Given the description of an element on the screen output the (x, y) to click on. 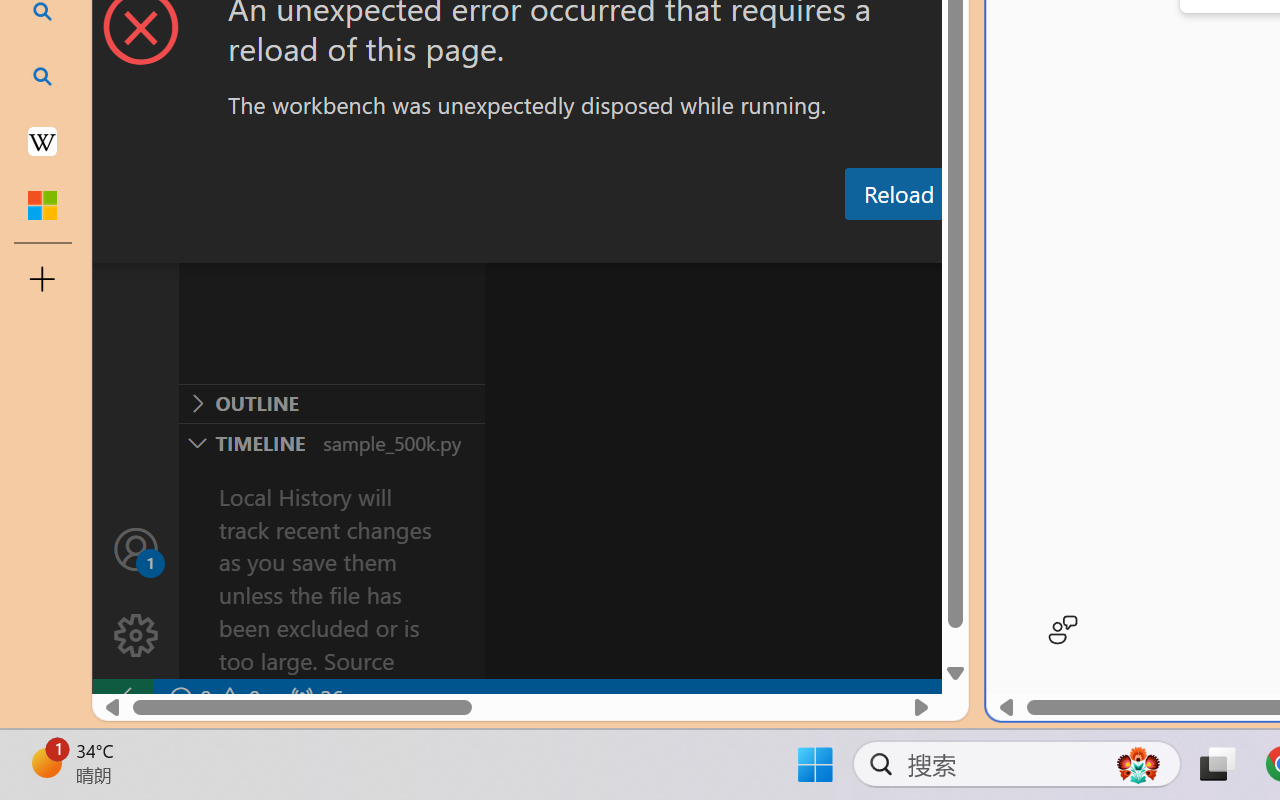
Manage (135, 591)
Earth - Wikipedia (42, 140)
Output (Ctrl+Shift+U) (696, 243)
Accounts - Sign in requested (135, 548)
Problems (Ctrl+Shift+M) (567, 243)
Debug Console (Ctrl+Shift+Y) (854, 243)
